Given the description of an element on the screen output the (x, y) to click on. 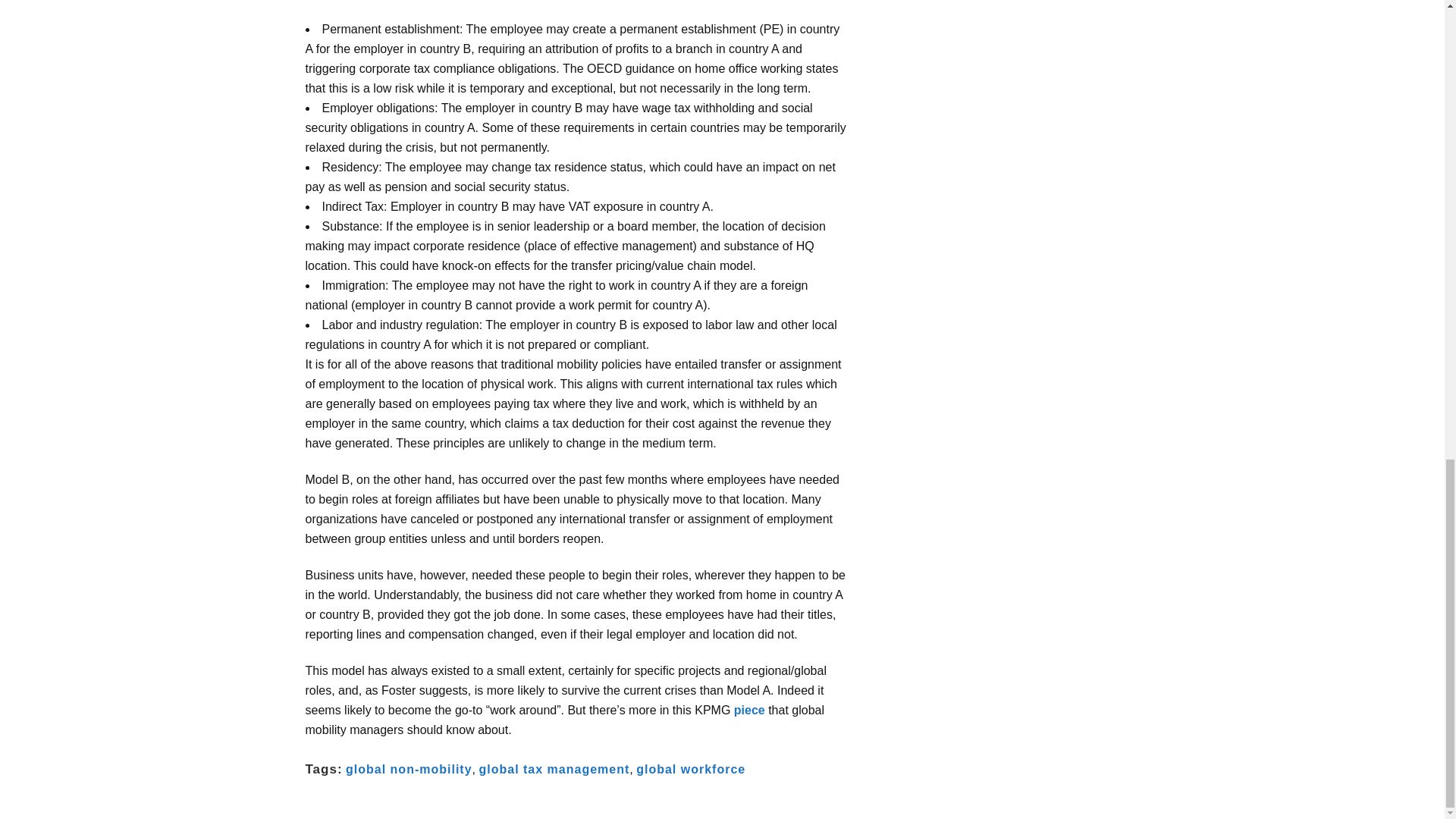
piece (749, 709)
global workforce (690, 768)
global tax management (553, 768)
global non-mobility (408, 768)
